Given the description of an element on the screen output the (x, y) to click on. 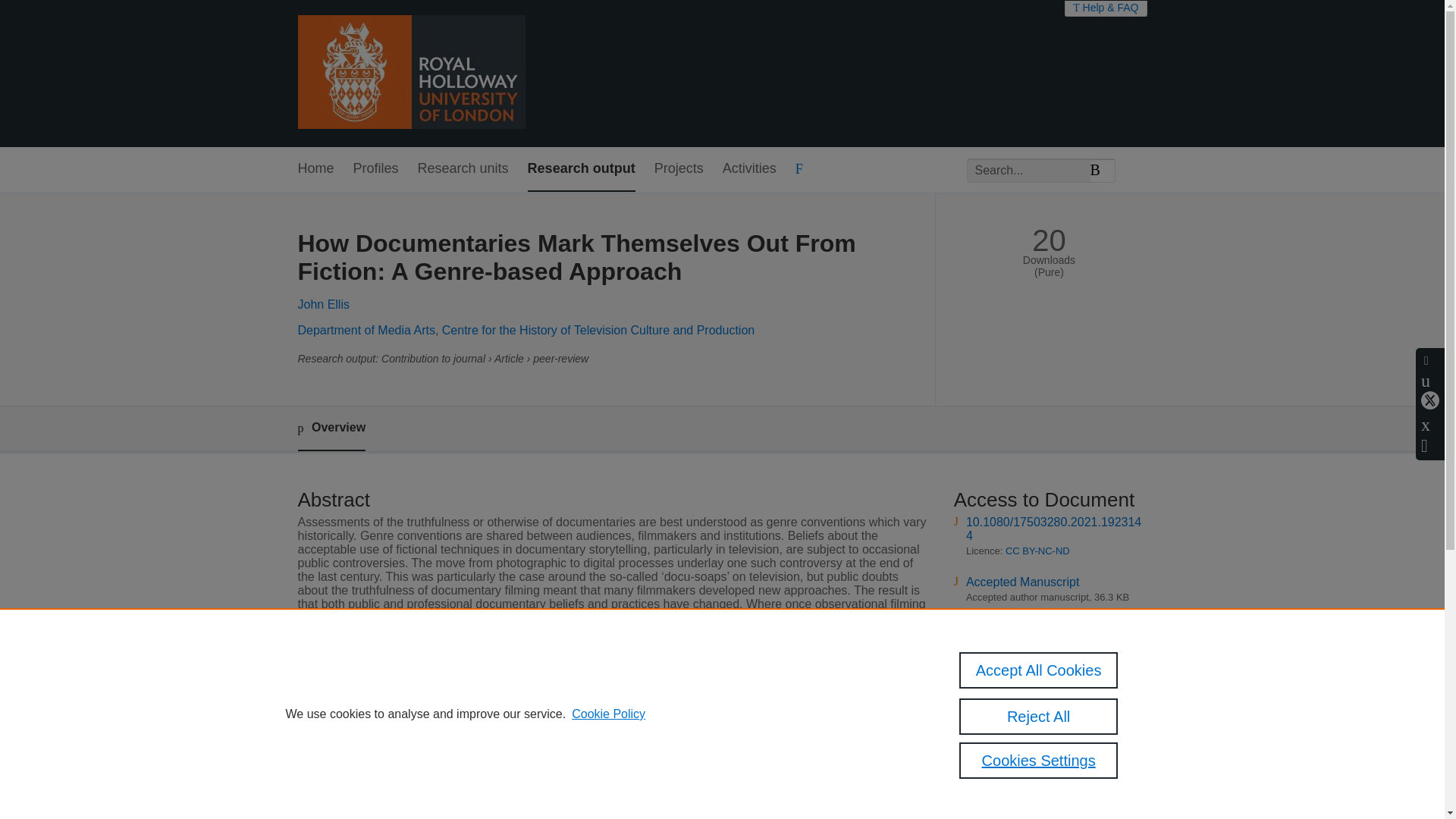
Cookies Settings (1038, 760)
Studies in Documentary Film (586, 735)
CC BY-NC-ND (1038, 550)
Centre for the History of Television Culture and Production (598, 329)
John Ellis (323, 304)
Royal Holloway Research Portal Home (410, 73)
Activities (749, 169)
Department of Media Arts (365, 329)
Overview (331, 428)
Cookie Policy (608, 713)
Projects (678, 169)
Accepted Manuscript (1022, 581)
Research output (580, 169)
Profiles (375, 169)
